Given the description of an element on the screen output the (x, y) to click on. 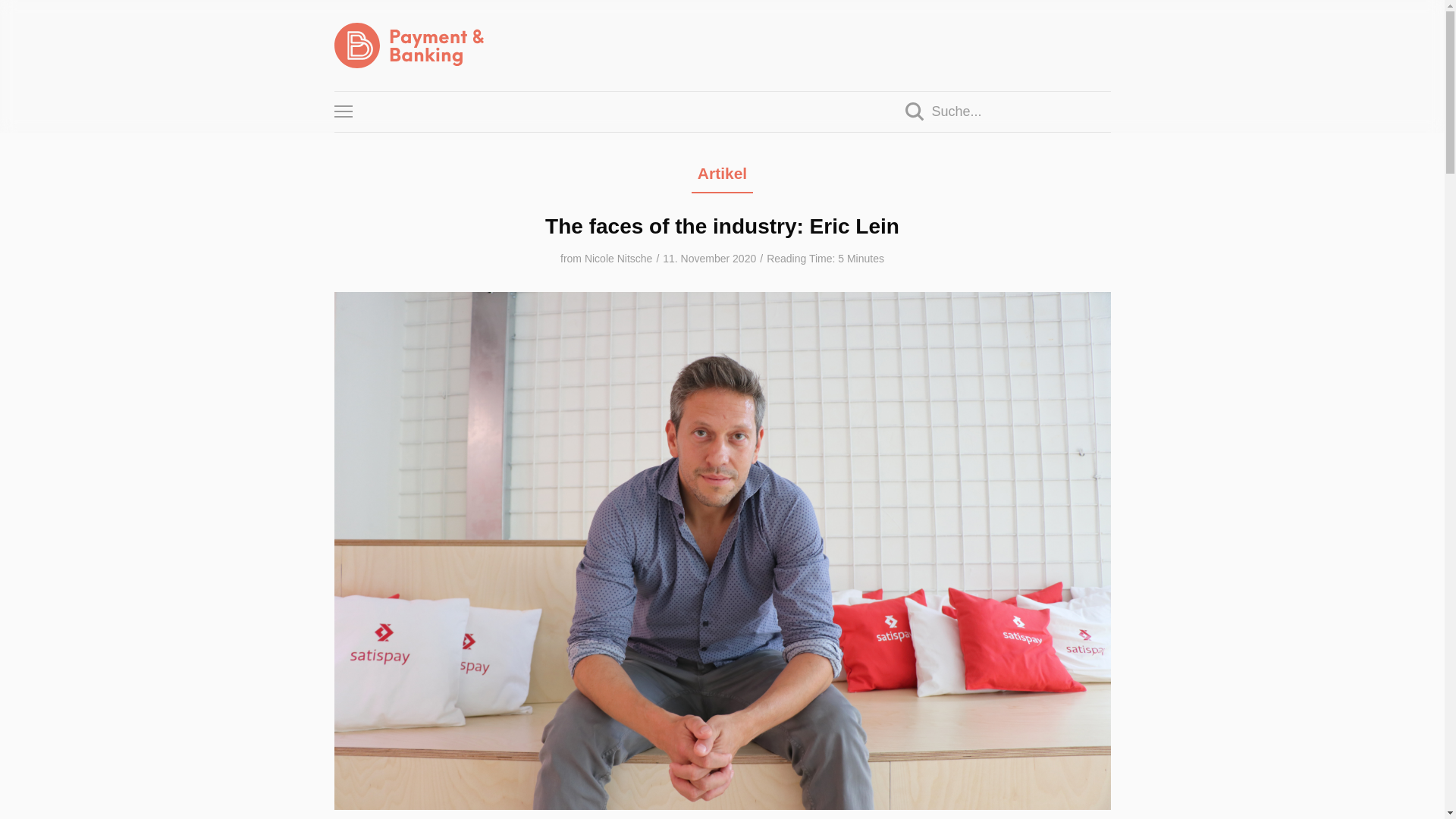
Artikel (721, 177)
Nicole Nitsche (618, 258)
View all posts in Artikel (721, 177)
